Given the description of an element on the screen output the (x, y) to click on. 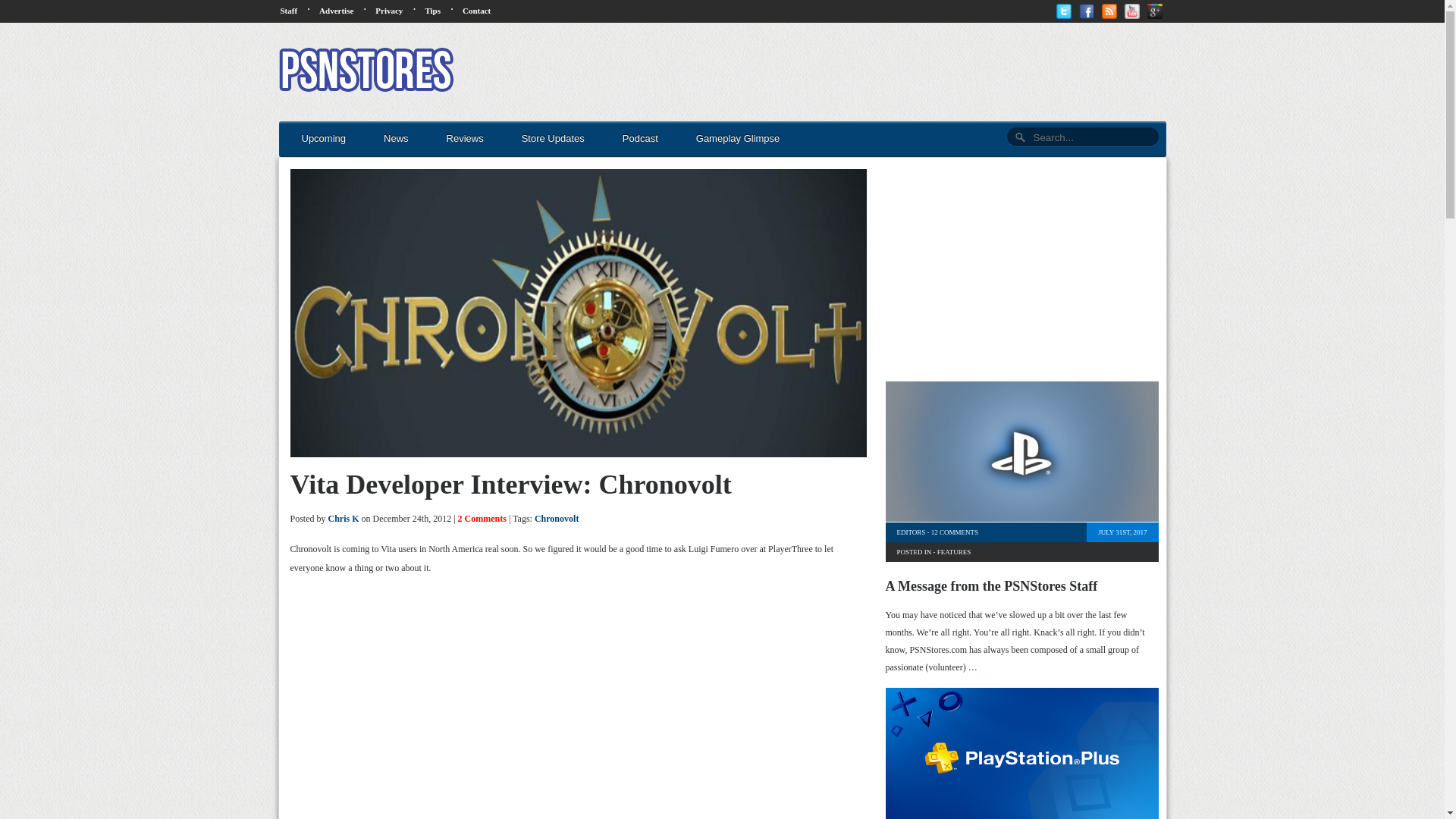
Posts by Chris K (344, 518)
Advertise (335, 10)
Upcoming (323, 138)
Advertisement (1017, 263)
Posts by Editors (910, 532)
Staff (289, 10)
Tips (433, 10)
Contact (476, 10)
Privacy (389, 10)
Advertisement (890, 71)
